Given the description of an element on the screen output the (x, y) to click on. 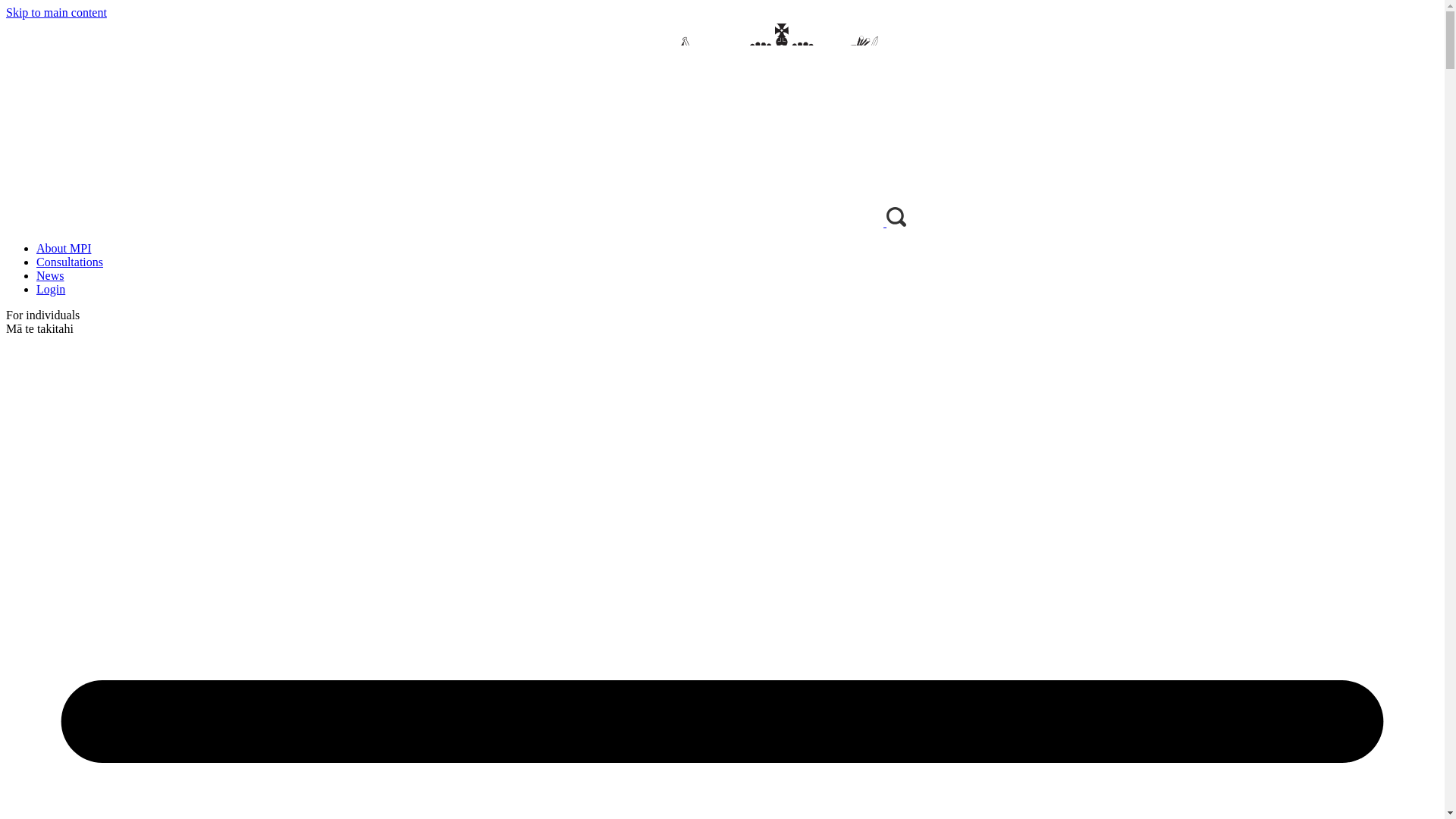
News (50, 275)
Consultations (69, 261)
About MPI (63, 247)
Ministry for Primary Industries (445, 222)
Login (50, 288)
Skip to main content (55, 11)
